Given the description of an element on the screen output the (x, y) to click on. 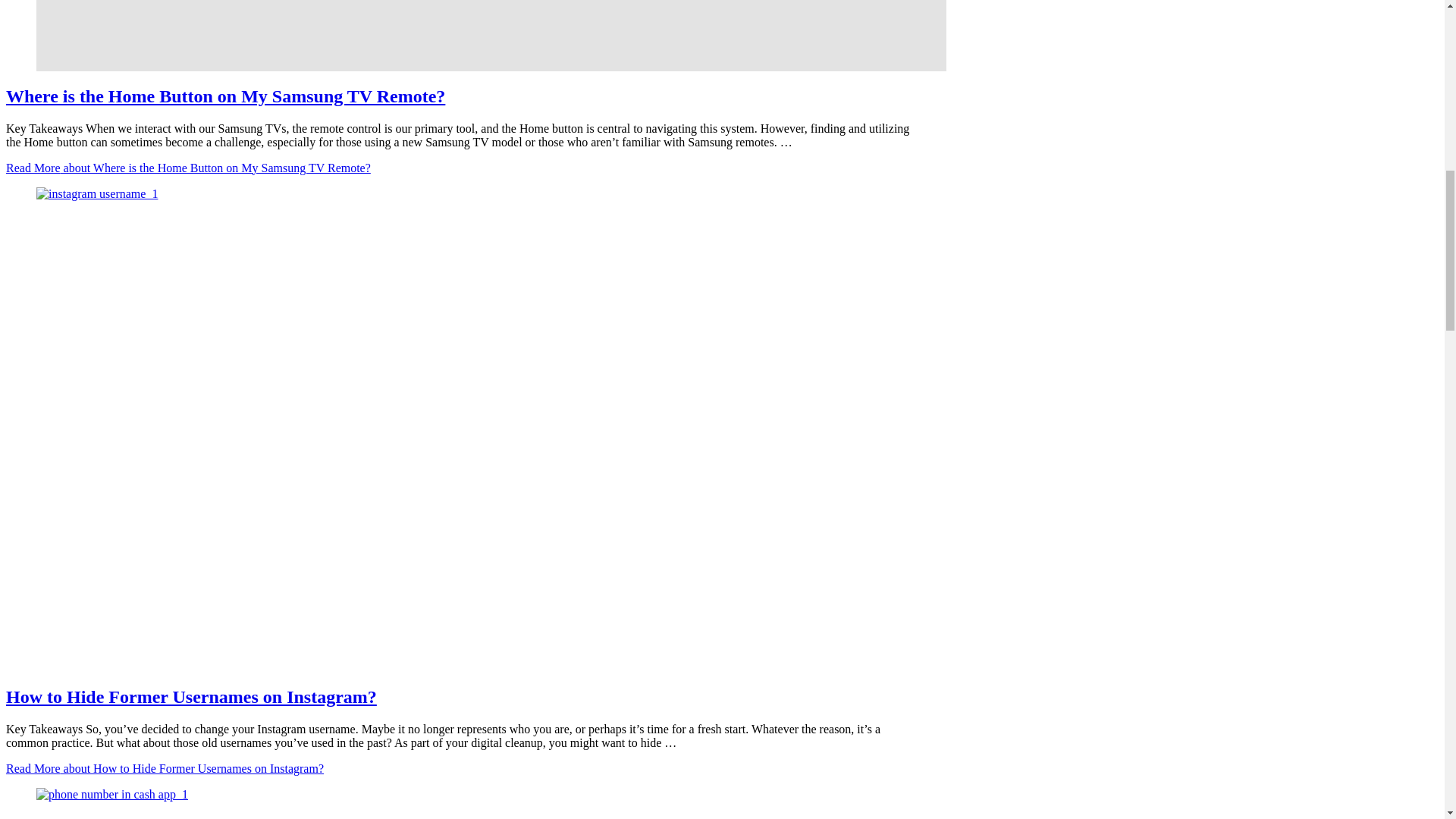
Where is the Home Button on My Samsung TV Remote? (460, 35)
Read More about How to Hide Former Usernames on Instagram? (164, 768)
How to Hide Former Usernames on Instagram? (191, 696)
Where is the Home Button on My Samsung TV Remote? (225, 96)
